Given the description of an element on the screen output the (x, y) to click on. 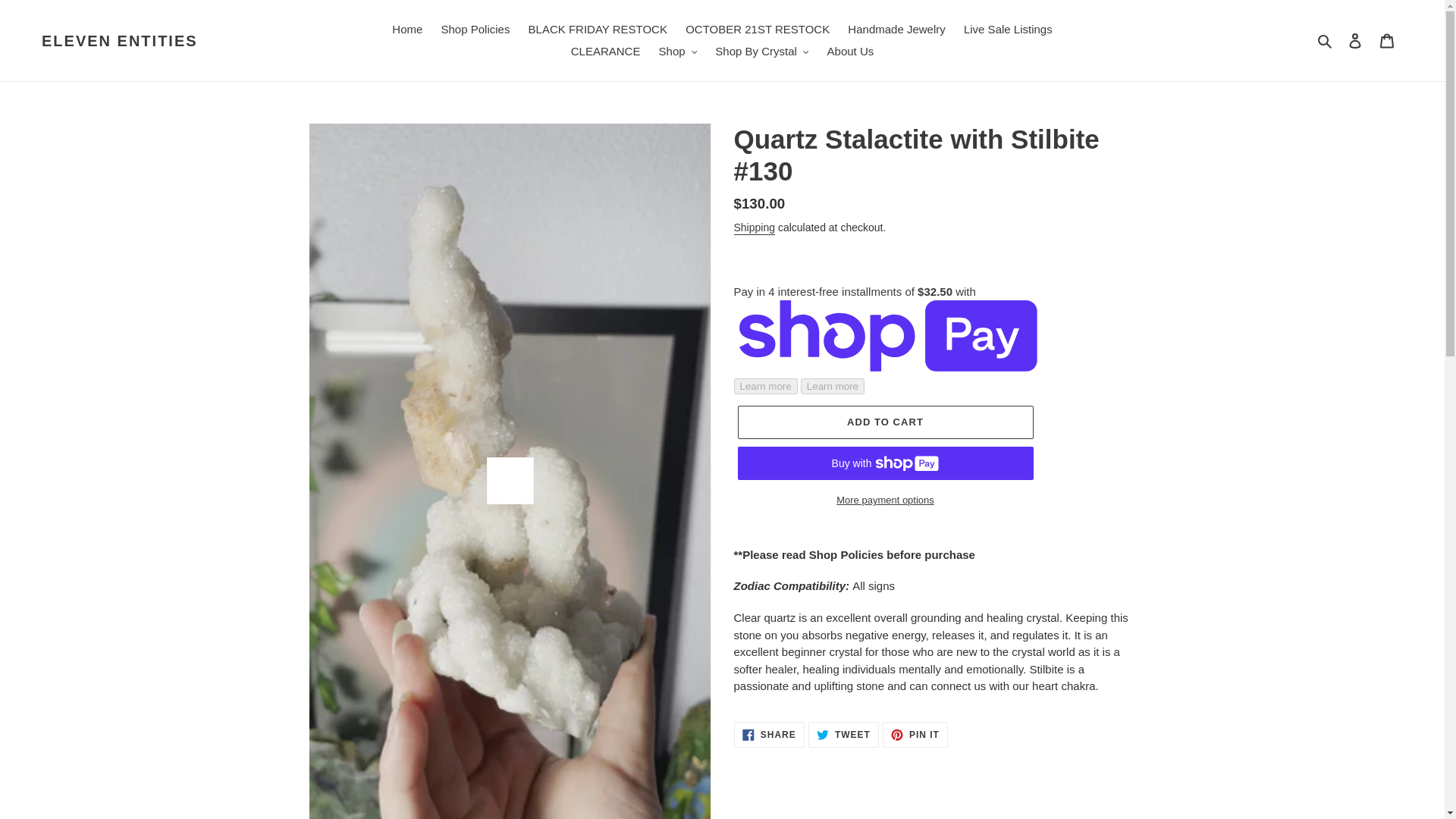
OCTOBER 21ST RESTOCK (757, 29)
Shop By Crystal (761, 51)
BLACK FRIDAY RESTOCK (598, 29)
Shop (677, 51)
ELEVEN ENTITIES (120, 40)
Handmade Jewelry (896, 29)
Shop Policies (475, 29)
Live Sale Listings (1007, 29)
CLEARANCE (605, 51)
Home (406, 29)
